Given the description of an element on the screen output the (x, y) to click on. 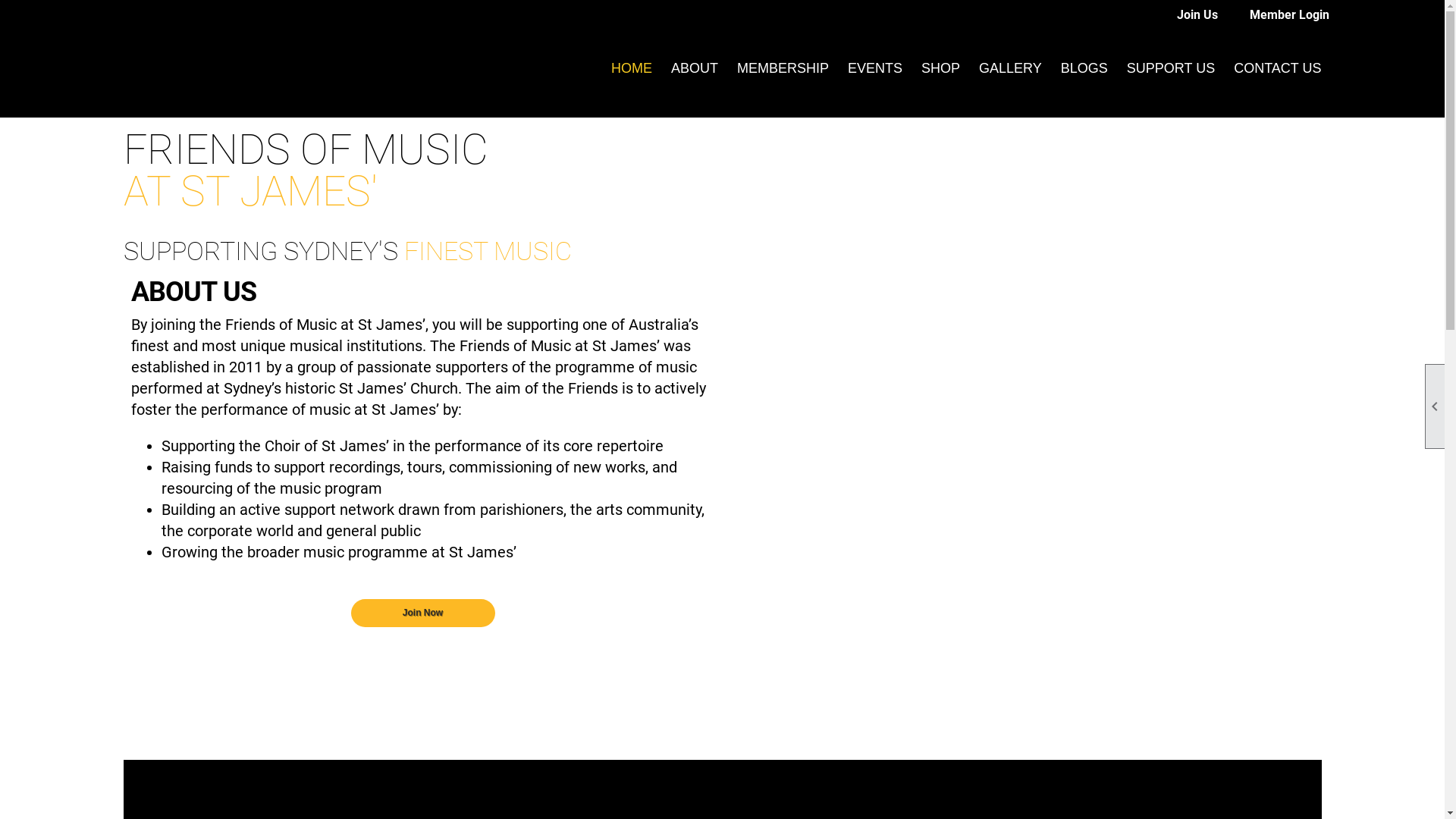
MEMBERSHIP Element type: text (782, 68)
CONTACT US Element type: text (1277, 68)
Member Login Element type: text (1281, 14)
EVENTS Element type: text (875, 68)
HOME Element type: text (631, 68)
GALLERY Element type: text (1010, 68)
Join Us Element type: text (1188, 14)
Join Now Element type: text (422, 613)
SUPPORT US Element type: text (1170, 68)
BLOGS Element type: text (1084, 68)
SHOP Element type: text (940, 68)
